Given the description of an element on the screen output the (x, y) to click on. 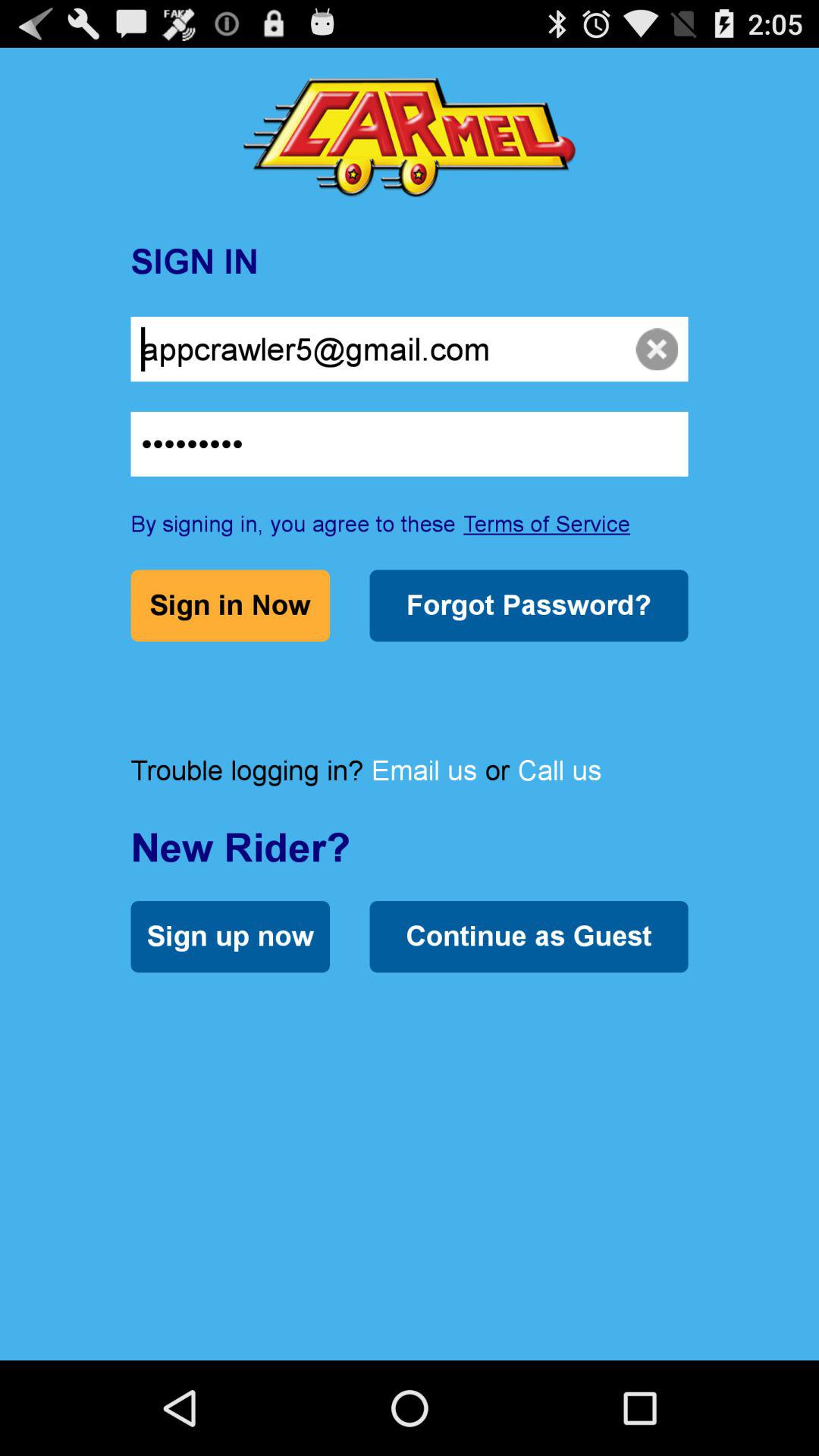
choose the appcrawler5@gmail.com (409, 348)
